Given the description of an element on the screen output the (x, y) to click on. 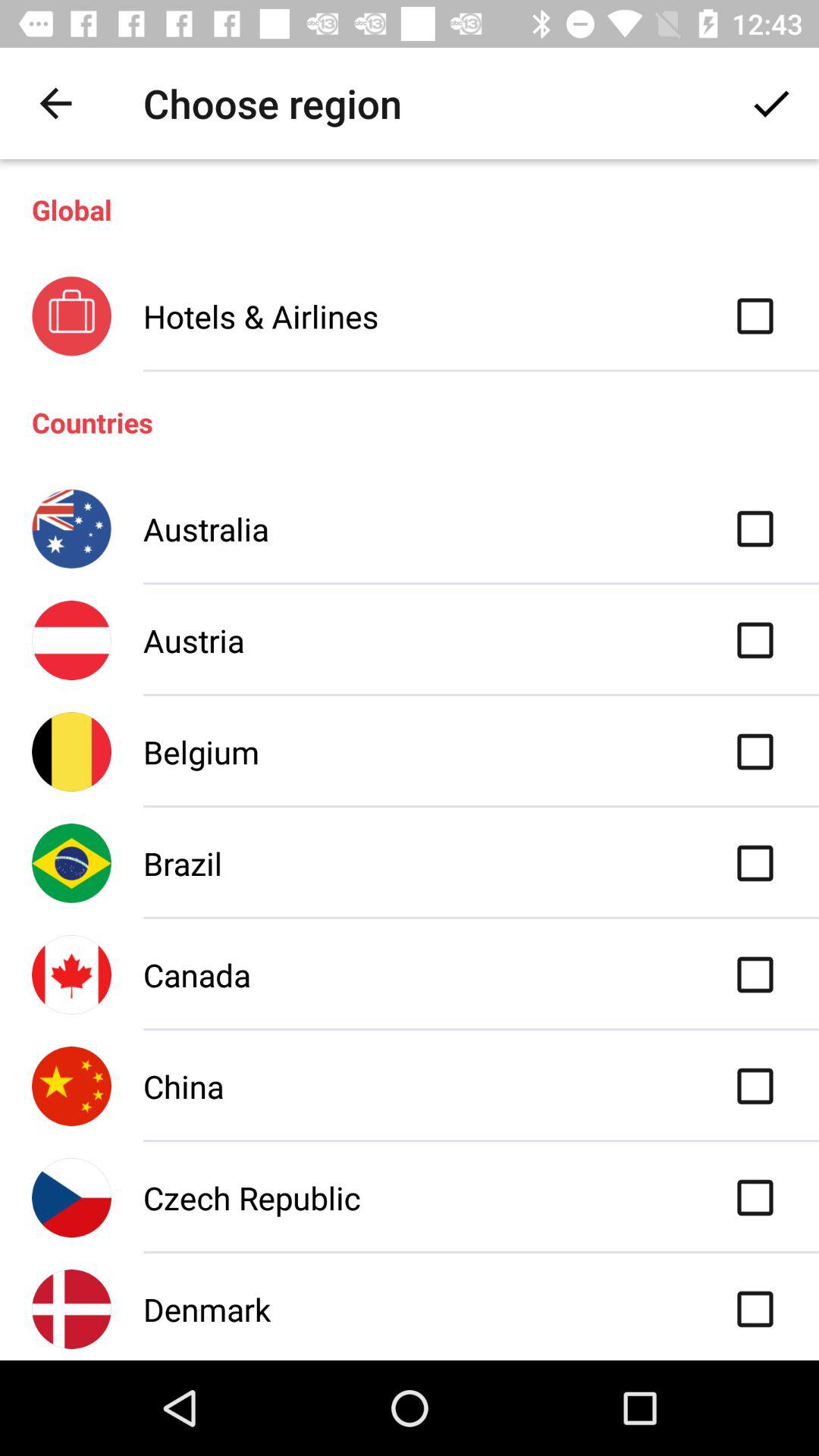
turn off icon above the global icon (771, 103)
